Given the description of an element on the screen output the (x, y) to click on. 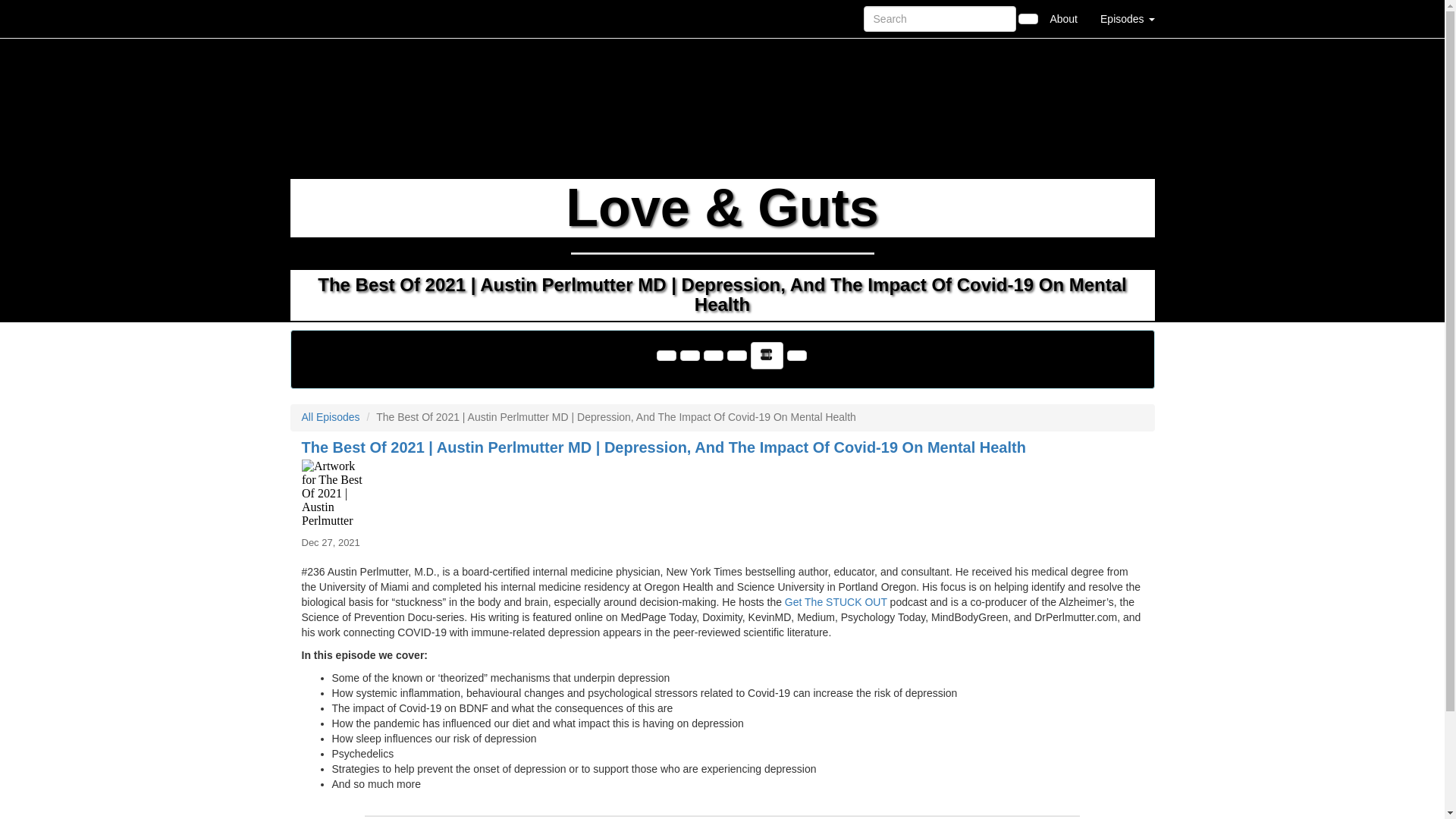
Episodes (1127, 18)
Home Page (320, 18)
About (1063, 18)
